Given the description of an element on the screen output the (x, y) to click on. 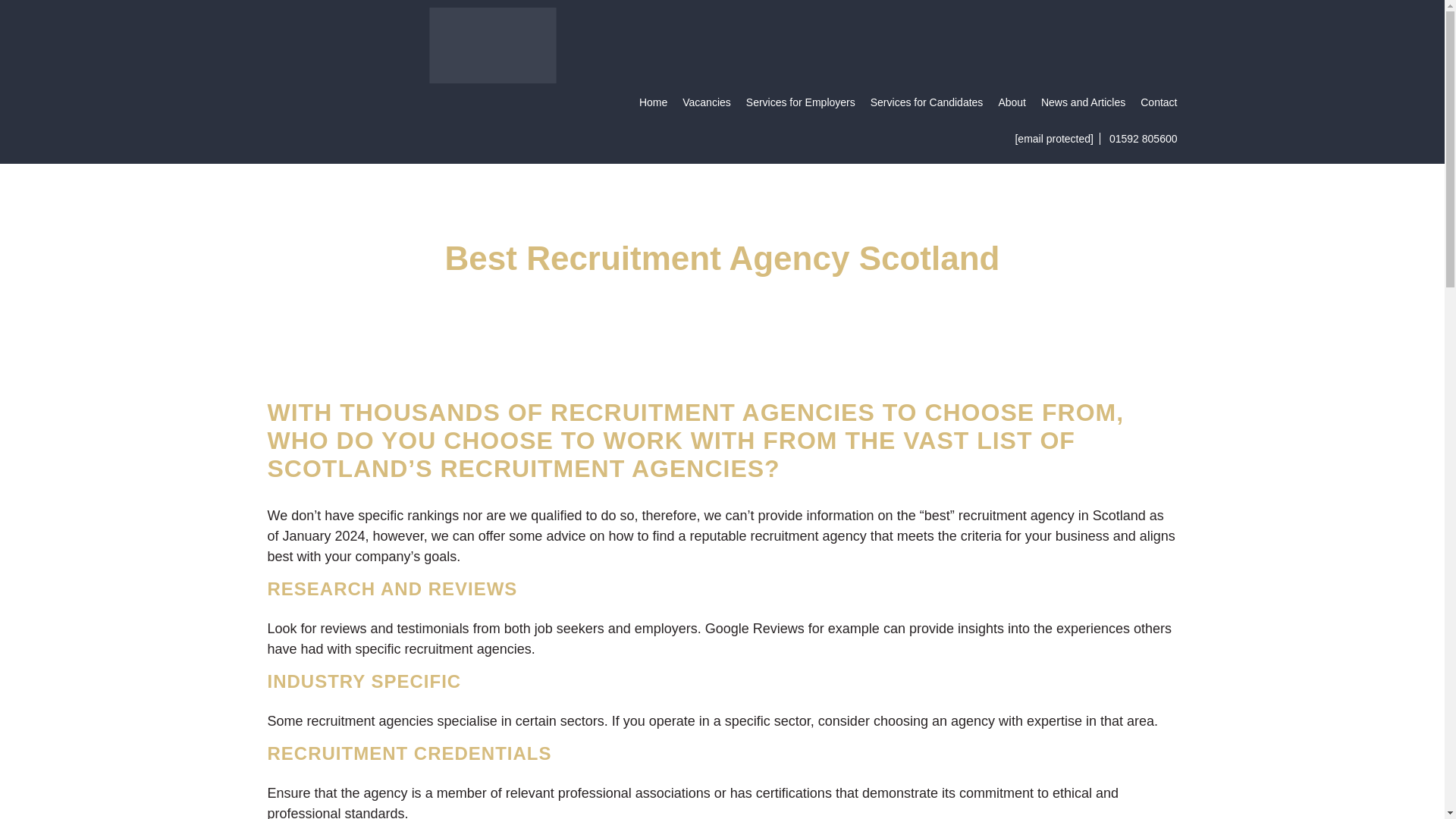
Services for Candidates (927, 102)
News and Articles (1083, 102)
Vacancies (706, 102)
Contact (1158, 102)
Services for Employers (800, 102)
